Given the description of an element on the screen output the (x, y) to click on. 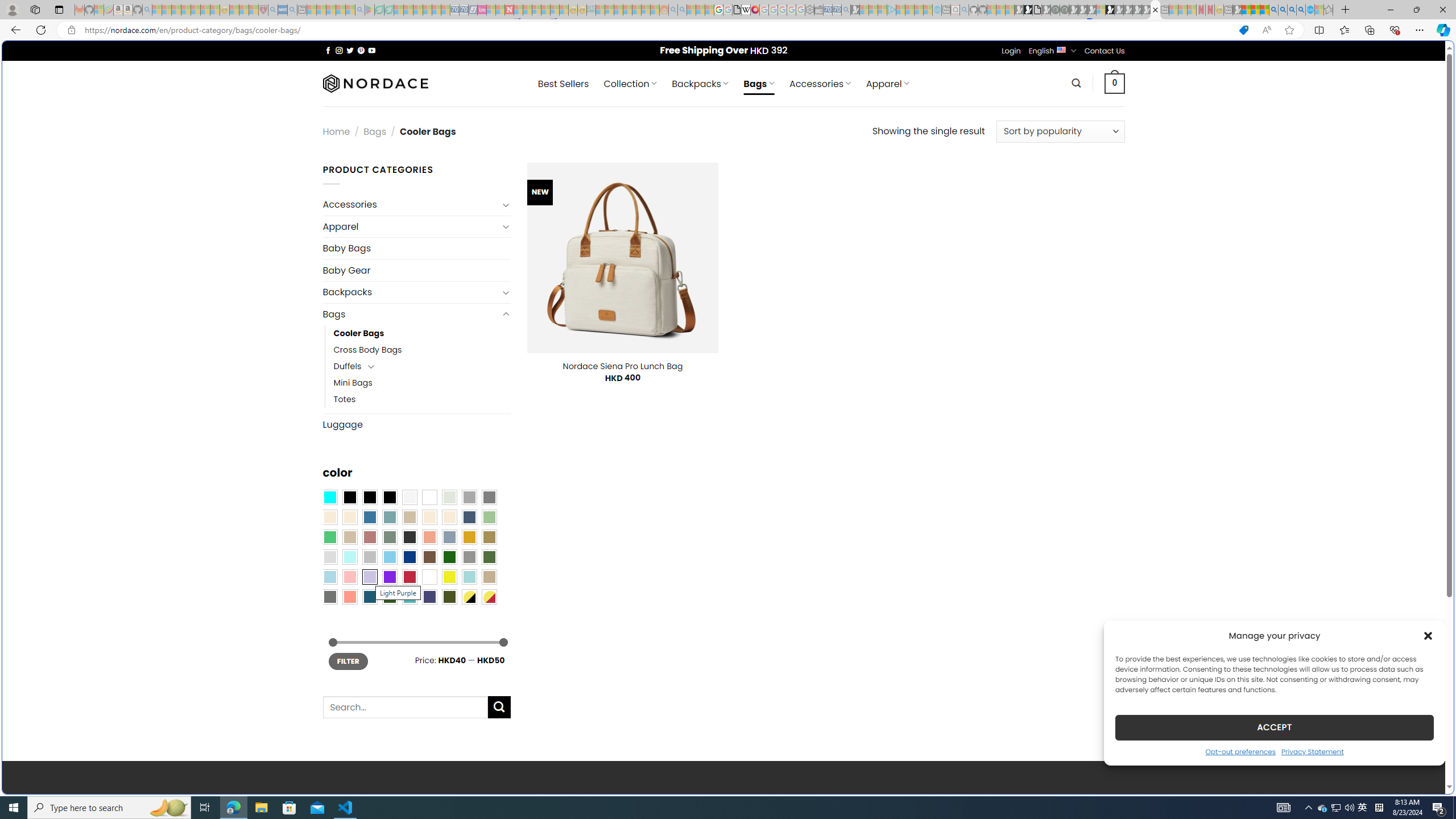
Black (369, 497)
Capri Blue (369, 596)
Mini Bags (422, 382)
Shop order (1060, 131)
Beige (329, 517)
Light Blue (329, 577)
Robert H. Shmerling, MD - Harvard Health - Sleeping (263, 9)
Settings - Sleeping (809, 9)
Wallet - Sleeping (818, 9)
MSN - Sleeping (1236, 9)
Close split screen (1208, 57)
